Given the description of an element on the screen output the (x, y) to click on. 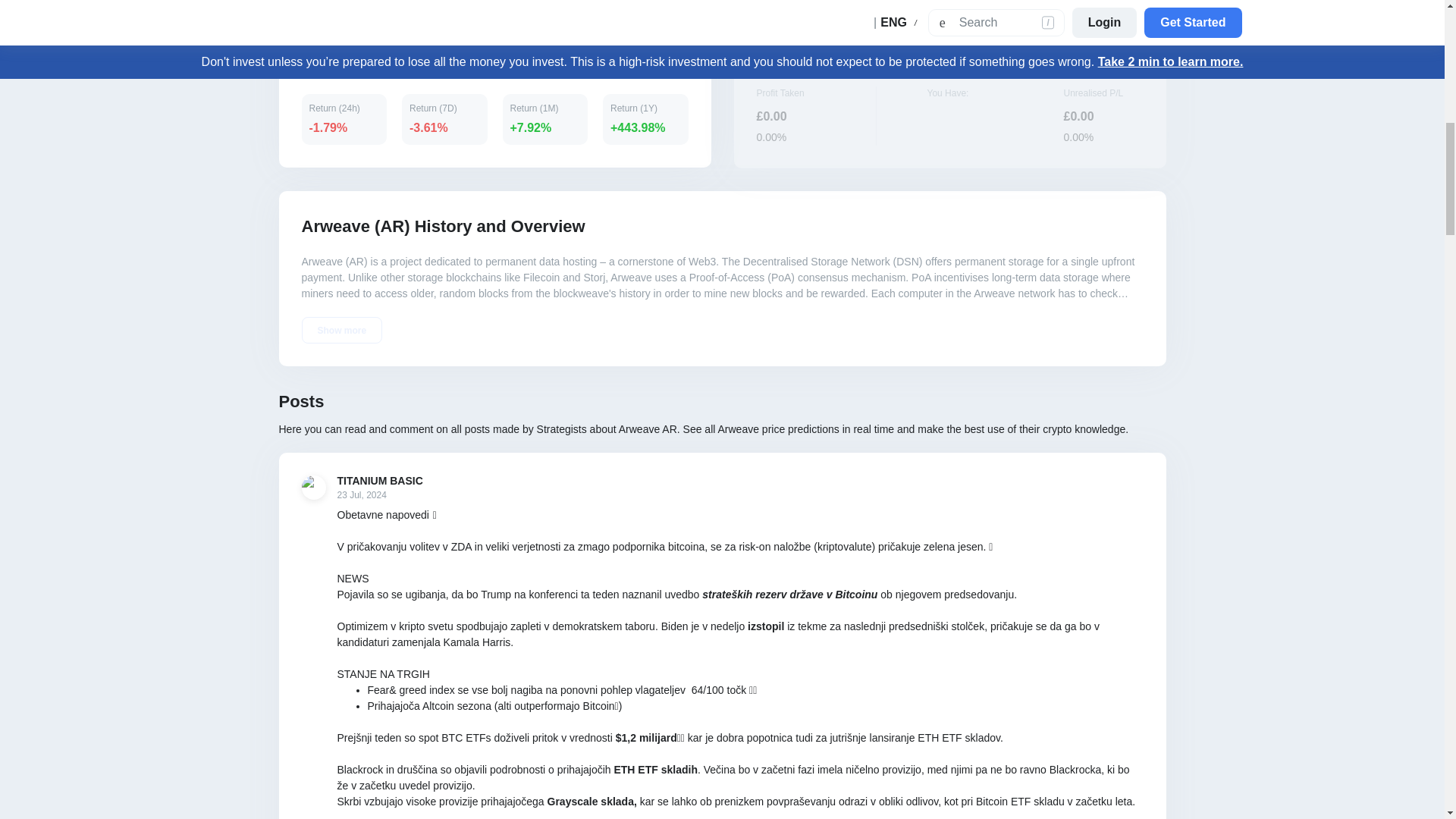
Jul 23, 2024, 12:29:01 AM (379, 494)
